Given the description of an element on the screen output the (x, y) to click on. 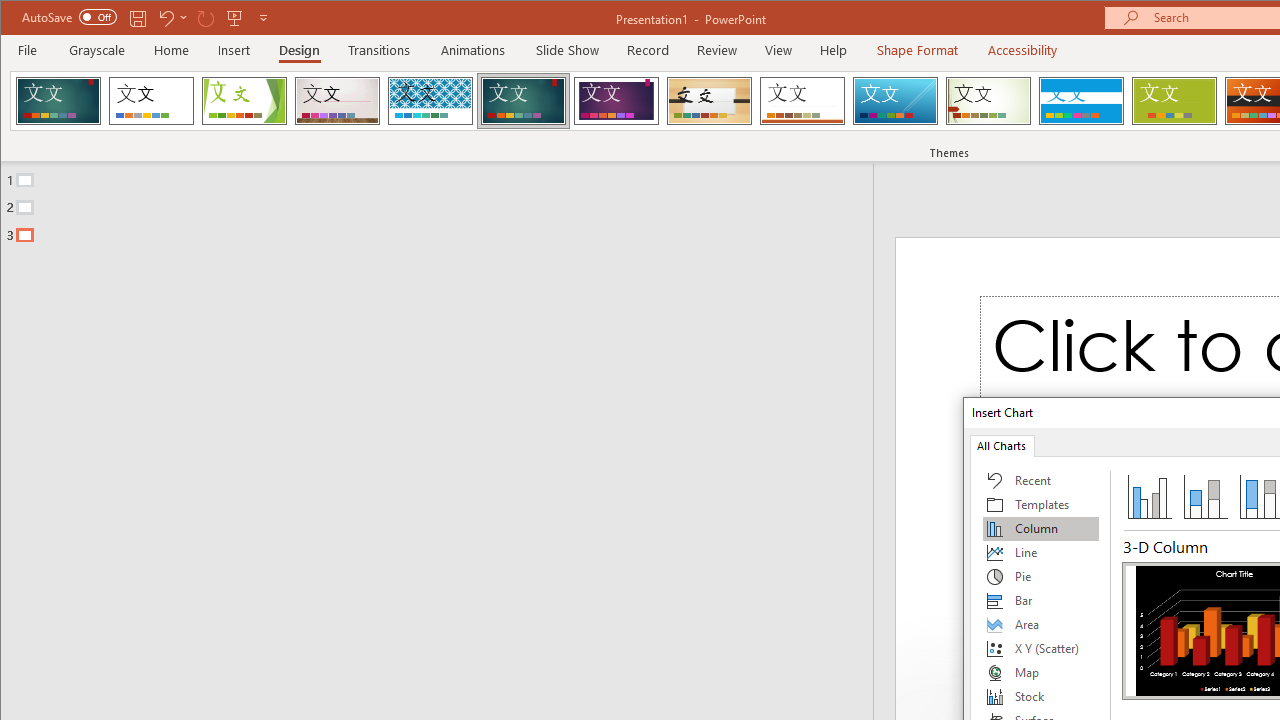
Banded (1081, 100)
Ion Boardroom (616, 100)
Integral (430, 100)
Slice (895, 100)
